Given the description of an element on the screen output the (x, y) to click on. 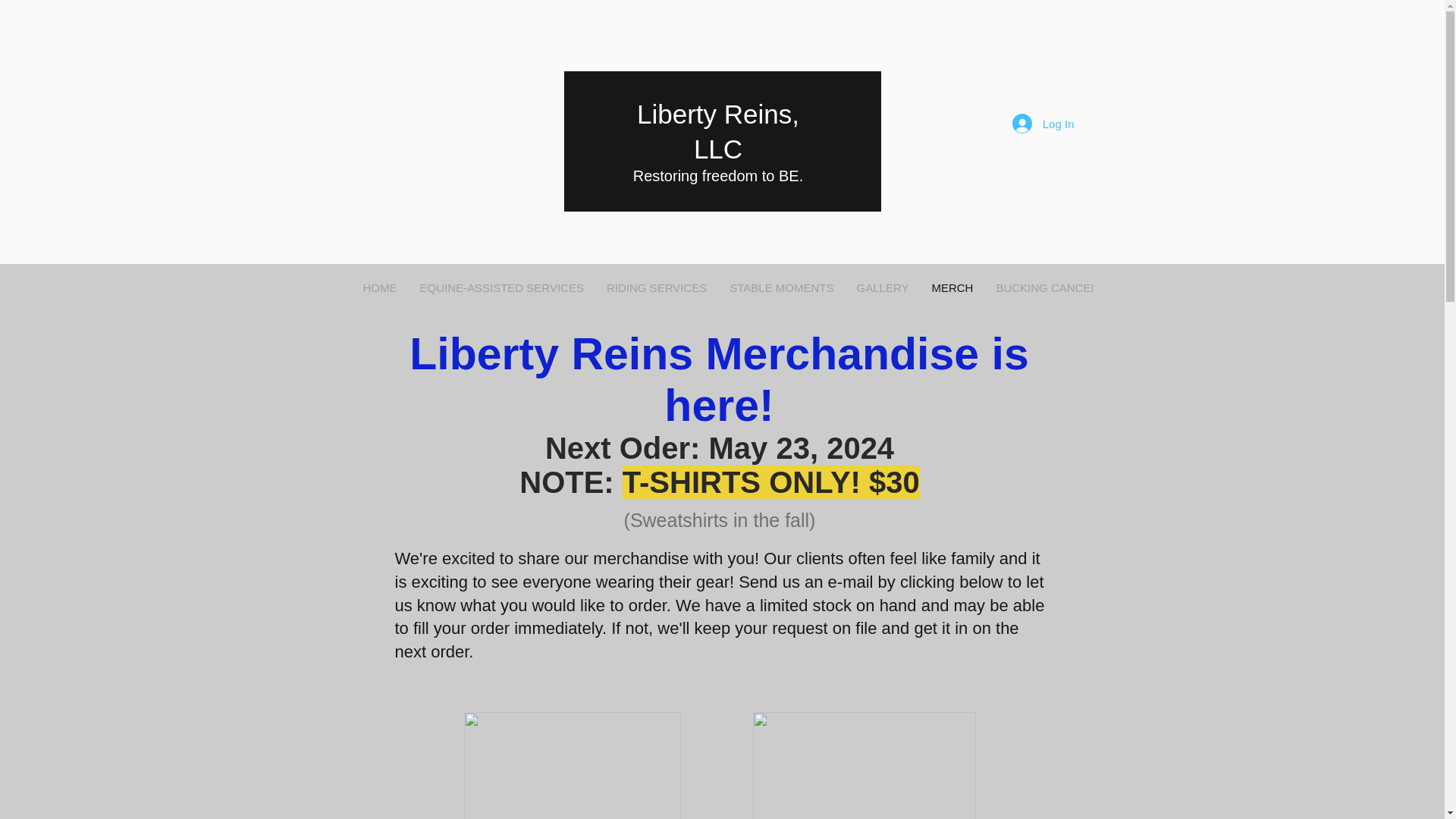
HOME (380, 291)
STABLE MOMENTS (780, 291)
BUCKING CANCER (1046, 291)
EQUINE-ASSISTED SERVICES (500, 291)
Log In (1042, 123)
MERCH (952, 291)
RIDING SERVICES (656, 291)
GALLERY (882, 291)
Liberty Reins, LLC (718, 131)
